Given the description of an element on the screen output the (x, y) to click on. 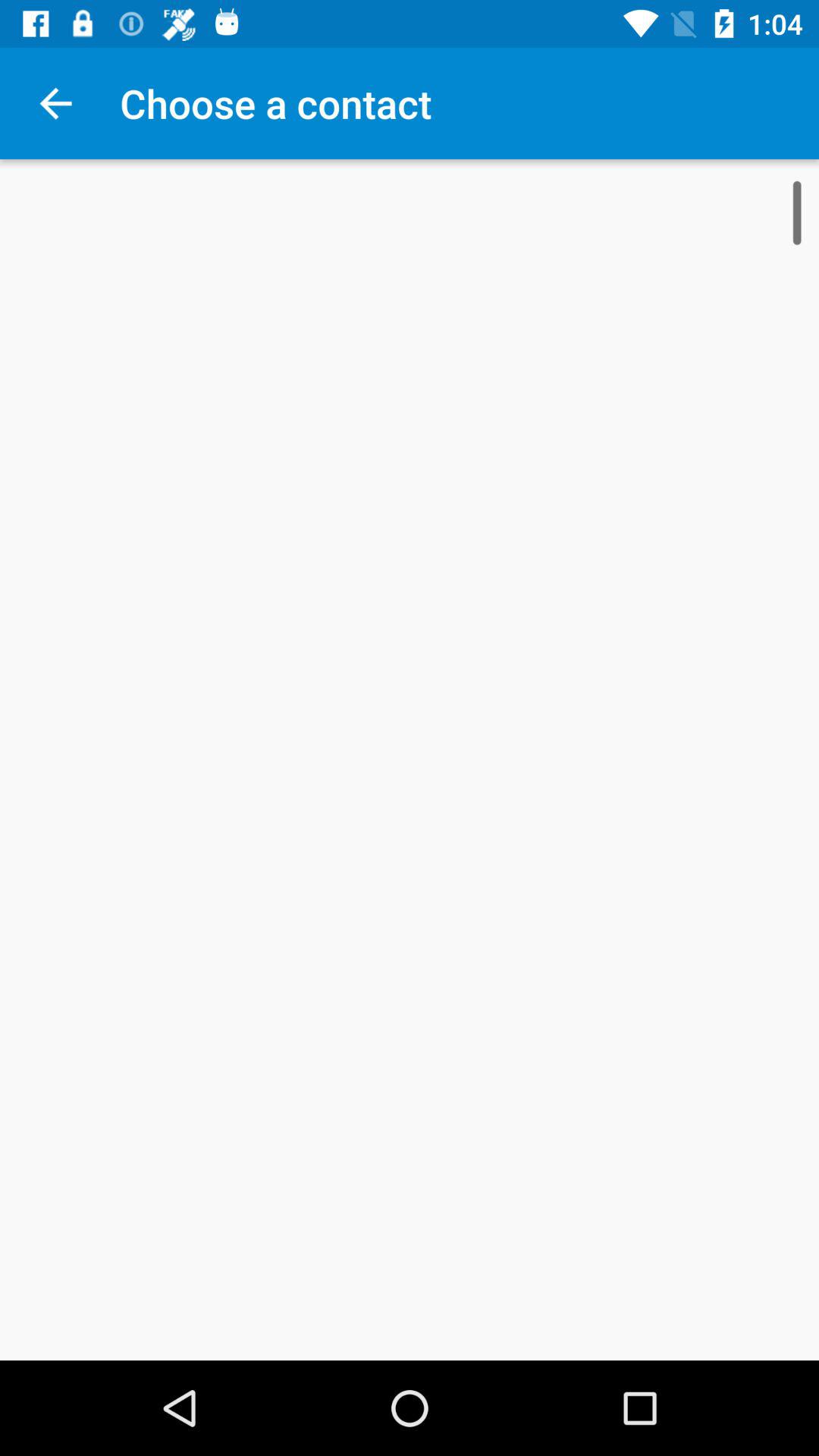
turn off the icon at the center (409, 759)
